Given the description of an element on the screen output the (x, y) to click on. 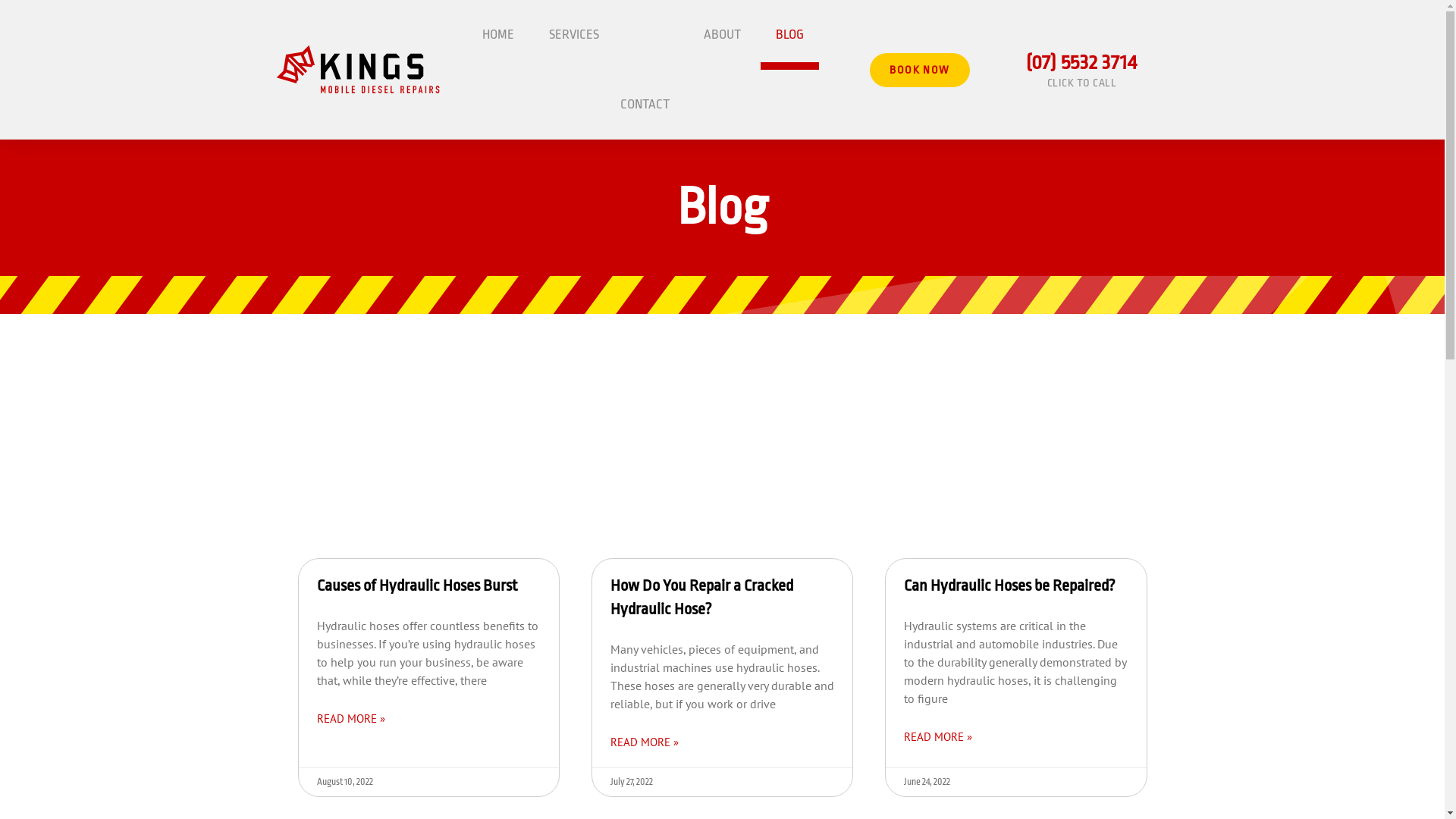
Causes of Hydraulic Hoses Burst Element type: text (416, 585)
HOME Element type: text (498, 34)
CLICK TO CALL Element type: text (1082, 82)
BOOK NOW Element type: text (919, 70)
ABOUT Element type: text (722, 34)
CONTACT Element type: text (644, 104)
(07) 5532 3714 Element type: text (1081, 61)
How Do You Repair a Cracked Hydraulic Hose? Element type: text (701, 597)
Can Hydraulic Hoses be Repaired? Element type: text (1009, 585)
SERVICES Element type: text (573, 34)
BLOG Element type: text (788, 34)
